Given the description of an element on the screen output the (x, y) to click on. 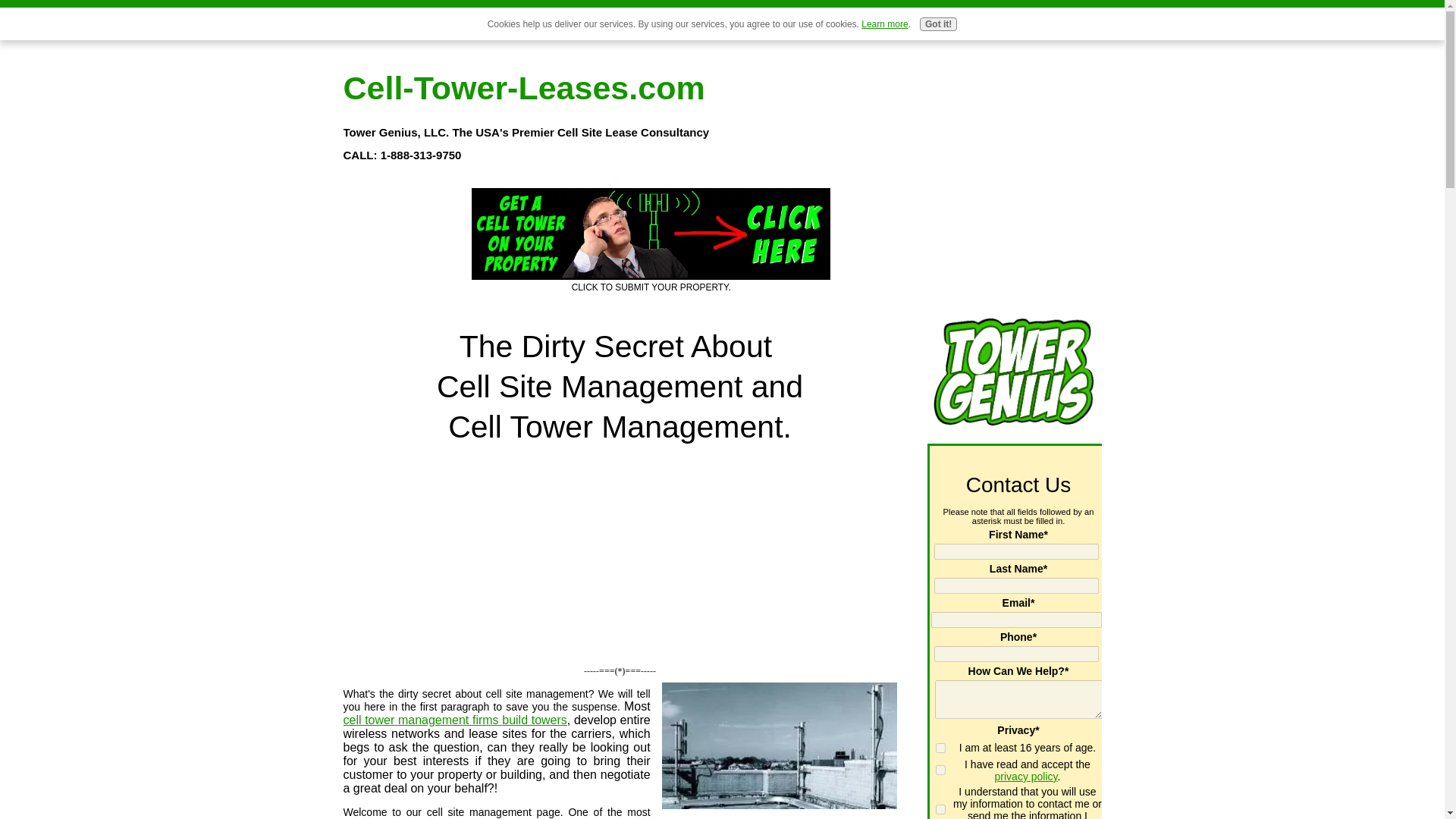
YouTube video player (622, 552)
I am at least 16 years of age. (940, 747)
LEASE RATES (471, 24)
HOME (400, 24)
Cell-Tower-Leases.com (523, 87)
